Given the description of an element on the screen output the (x, y) to click on. 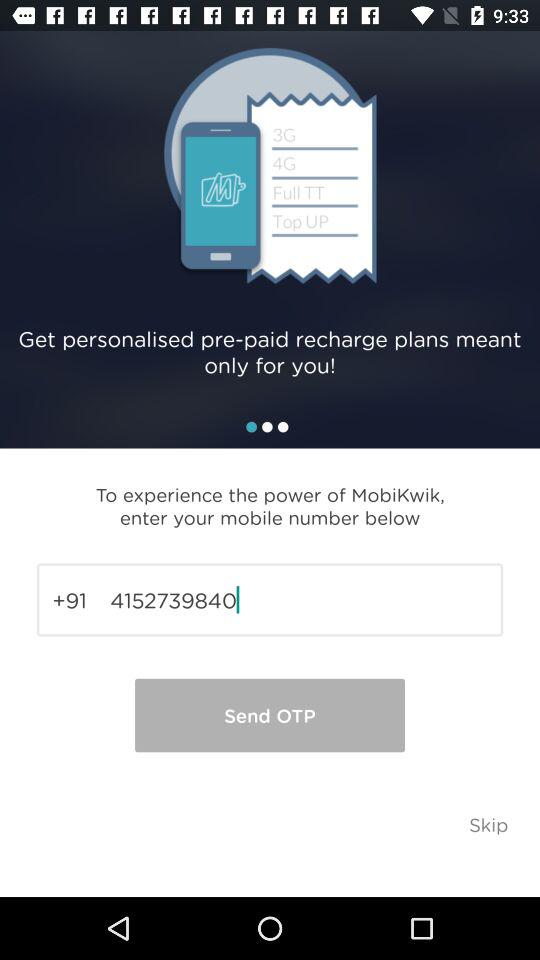
jump to the 4152739840 icon (269, 599)
